Given the description of an element on the screen output the (x, y) to click on. 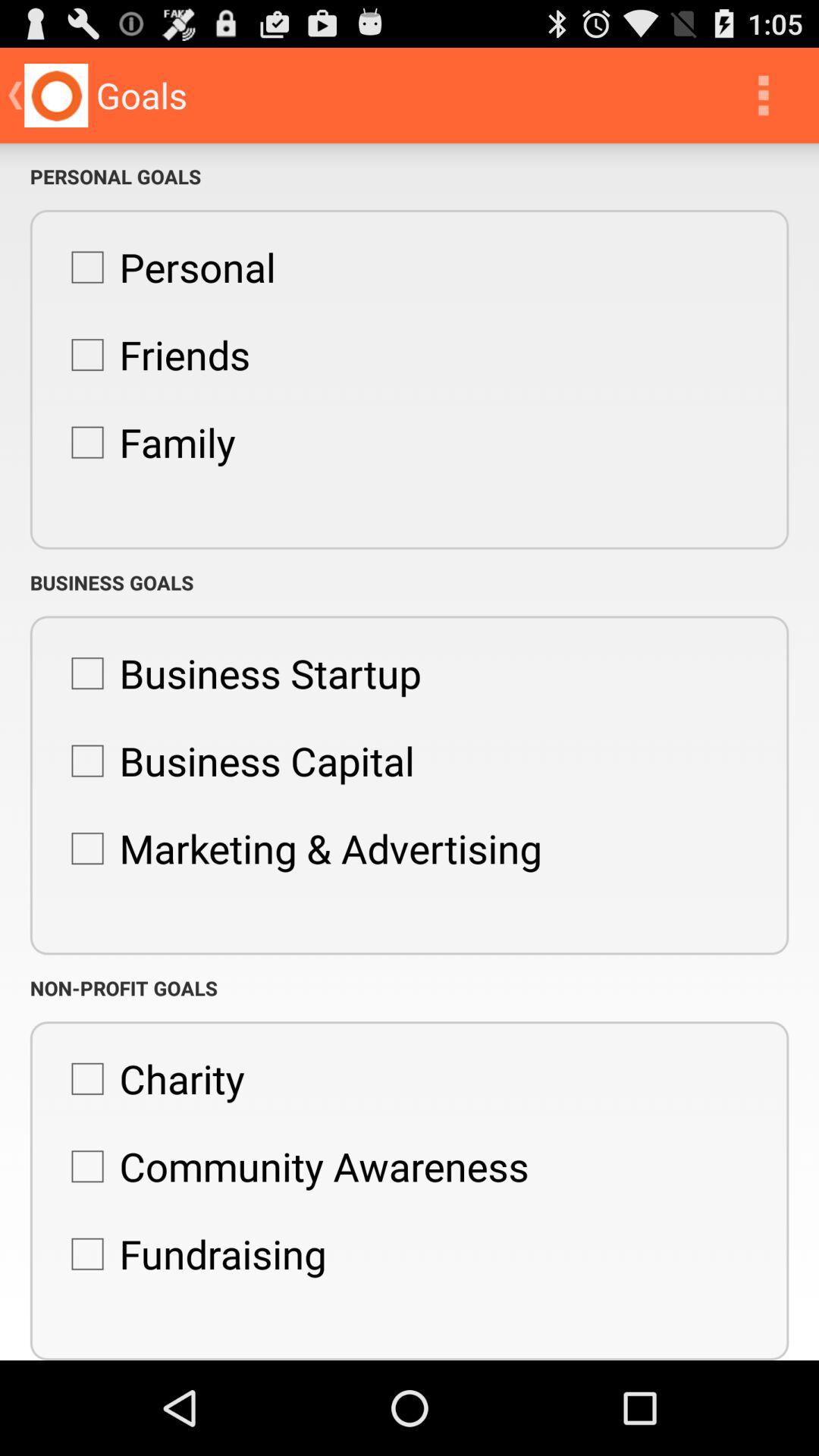
launch the checkbox above the fundraising icon (291, 1166)
